Given the description of an element on the screen output the (x, y) to click on. 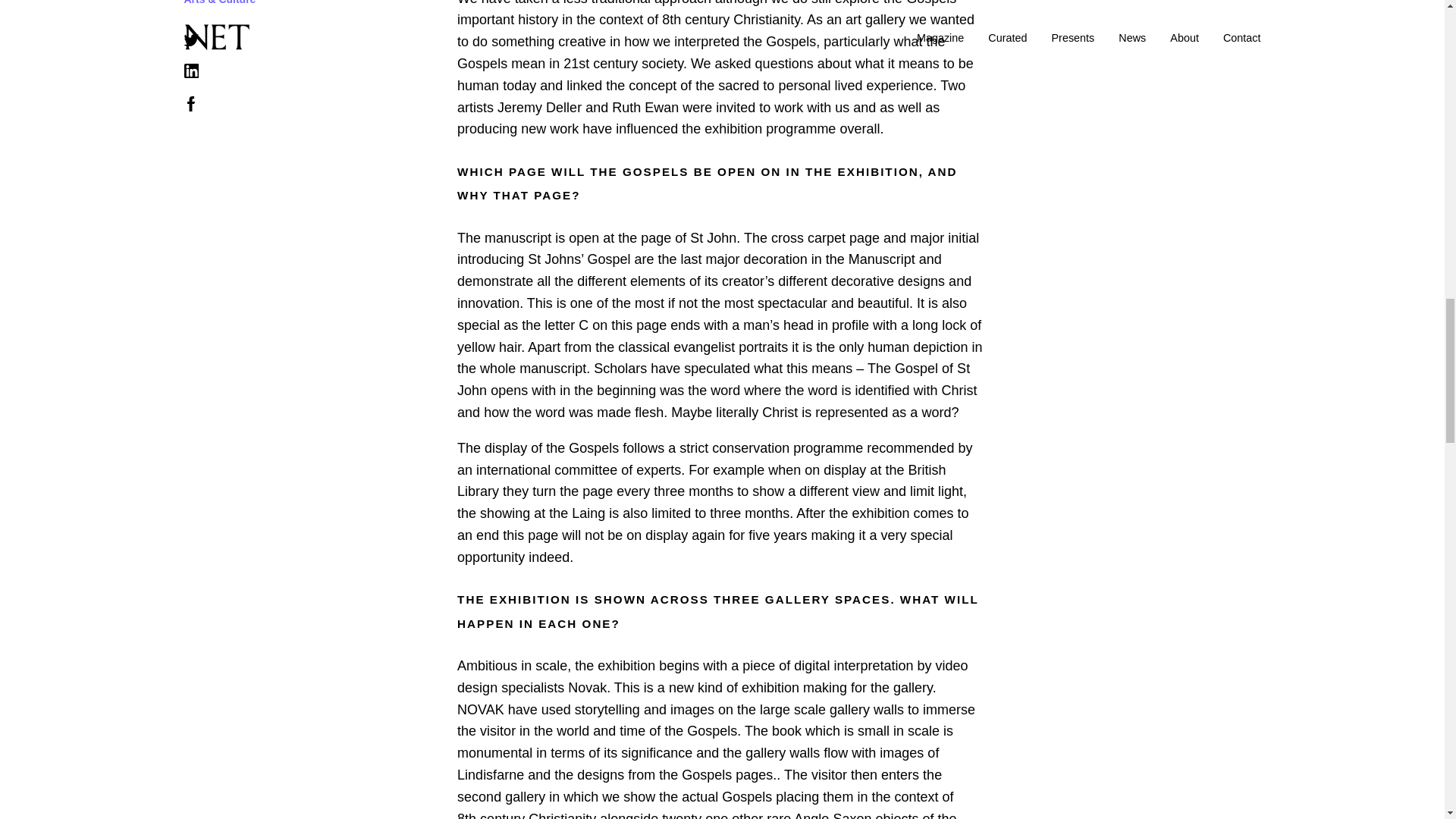
Share this post on Twitter (191, 42)
Share this post on LinkedIn (190, 73)
Share this post on Facebook (191, 106)
